Given the description of an element on the screen output the (x, y) to click on. 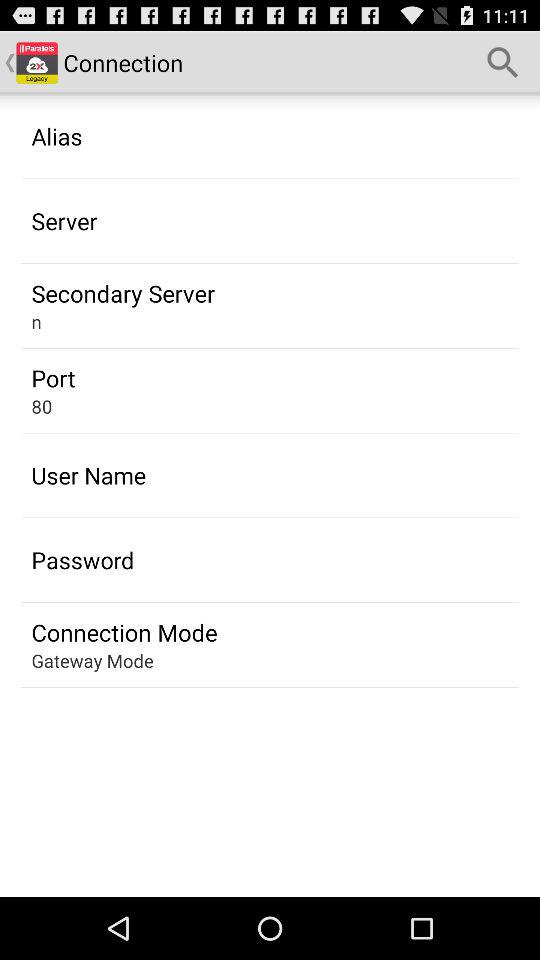
turn off app next to the connection app (503, 62)
